Given the description of an element on the screen output the (x, y) to click on. 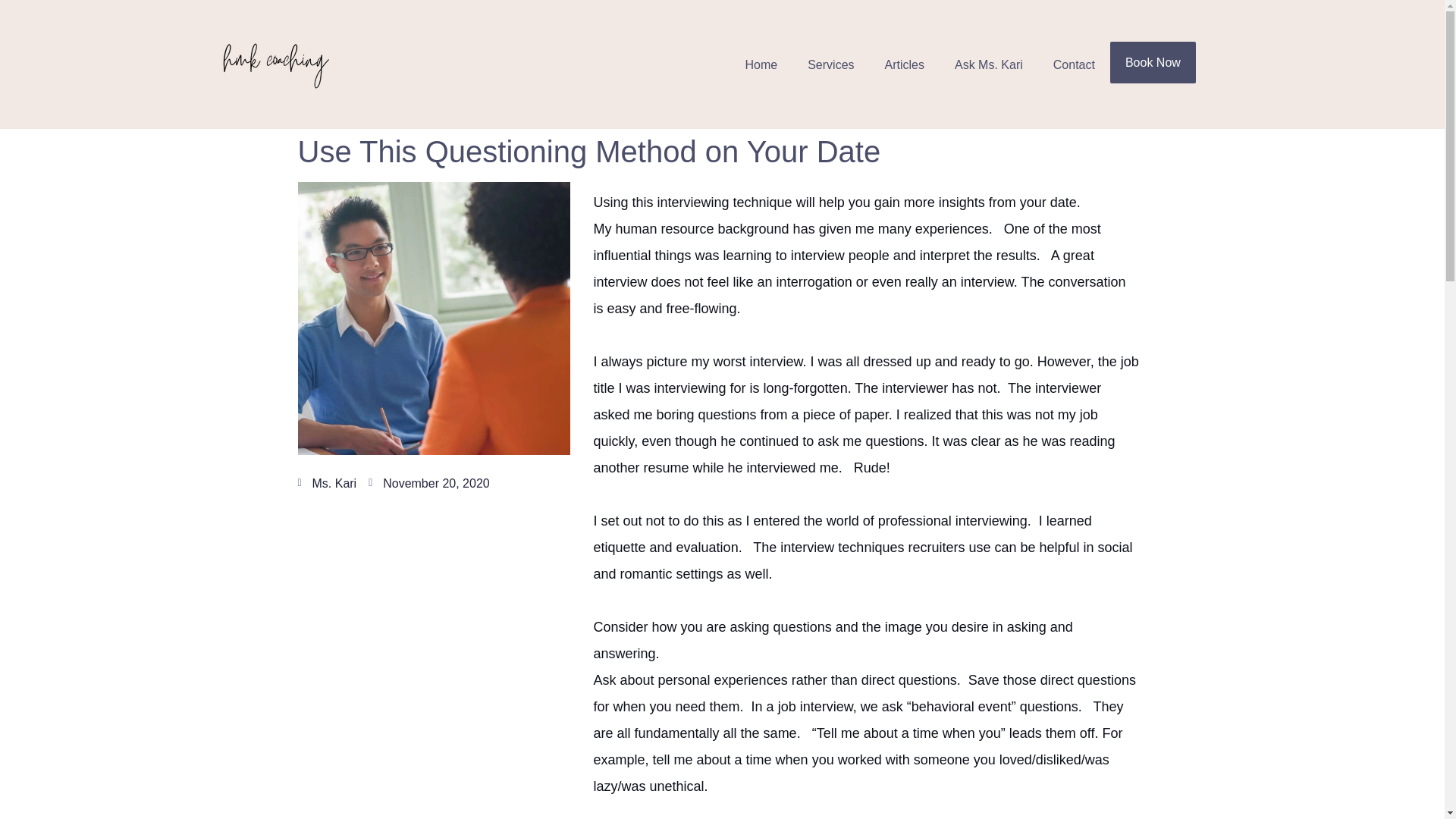
Home (760, 63)
Articles (904, 63)
November 20, 2020 (428, 483)
Ask Ms. Kari (988, 63)
Services (830, 63)
Book Now (1152, 61)
Contact (1073, 63)
Ms. Kari (326, 483)
